Given the description of an element on the screen output the (x, y) to click on. 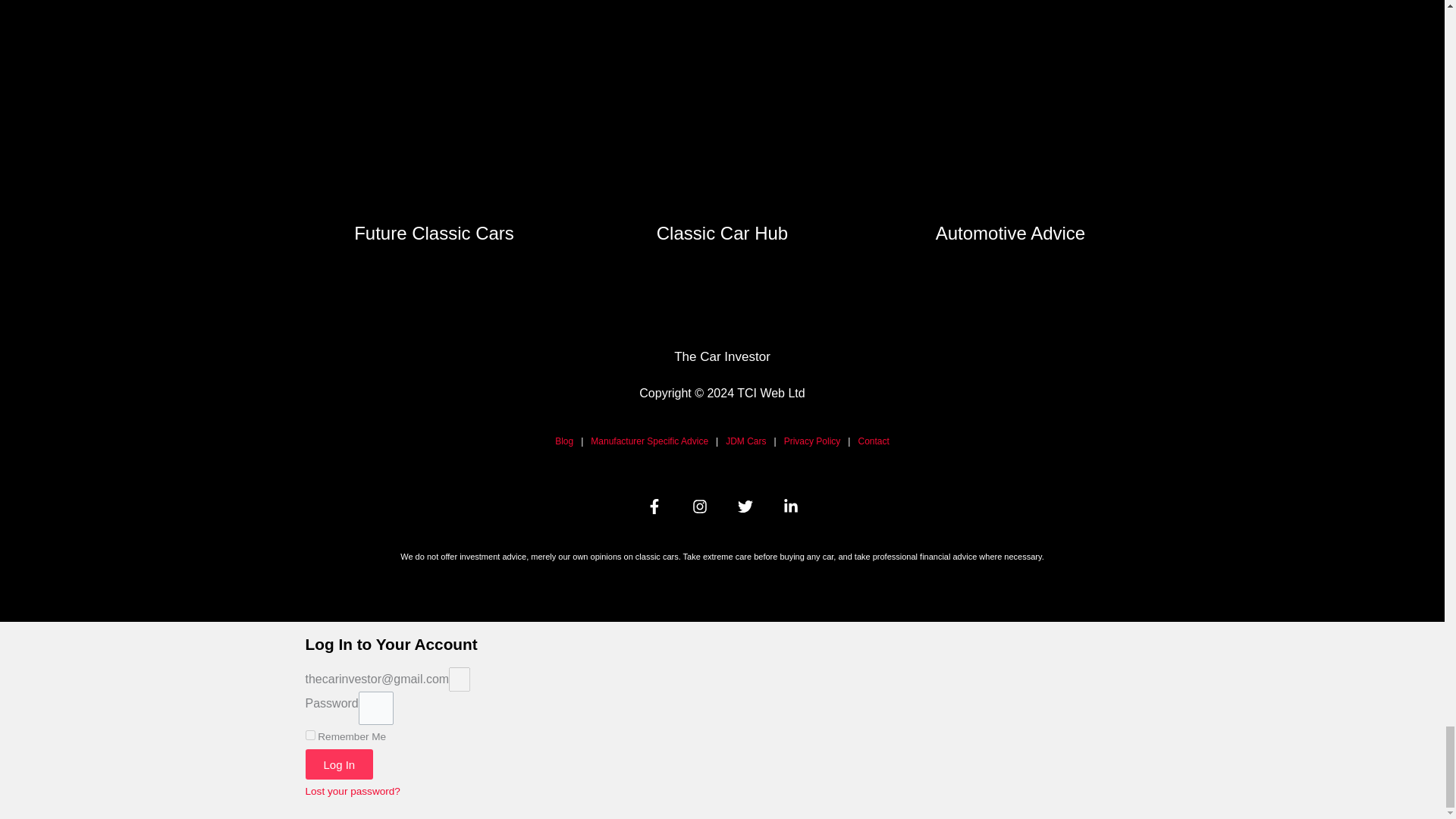
Automotive Advice (1010, 232)
forever (309, 735)
Classic Car Hub (721, 232)
Privacy Policy (812, 439)
Future Classic Cars (433, 232)
Manufacturer Specific Advice (649, 439)
JDM Cars (745, 439)
Blog (563, 439)
